Given the description of an element on the screen output the (x, y) to click on. 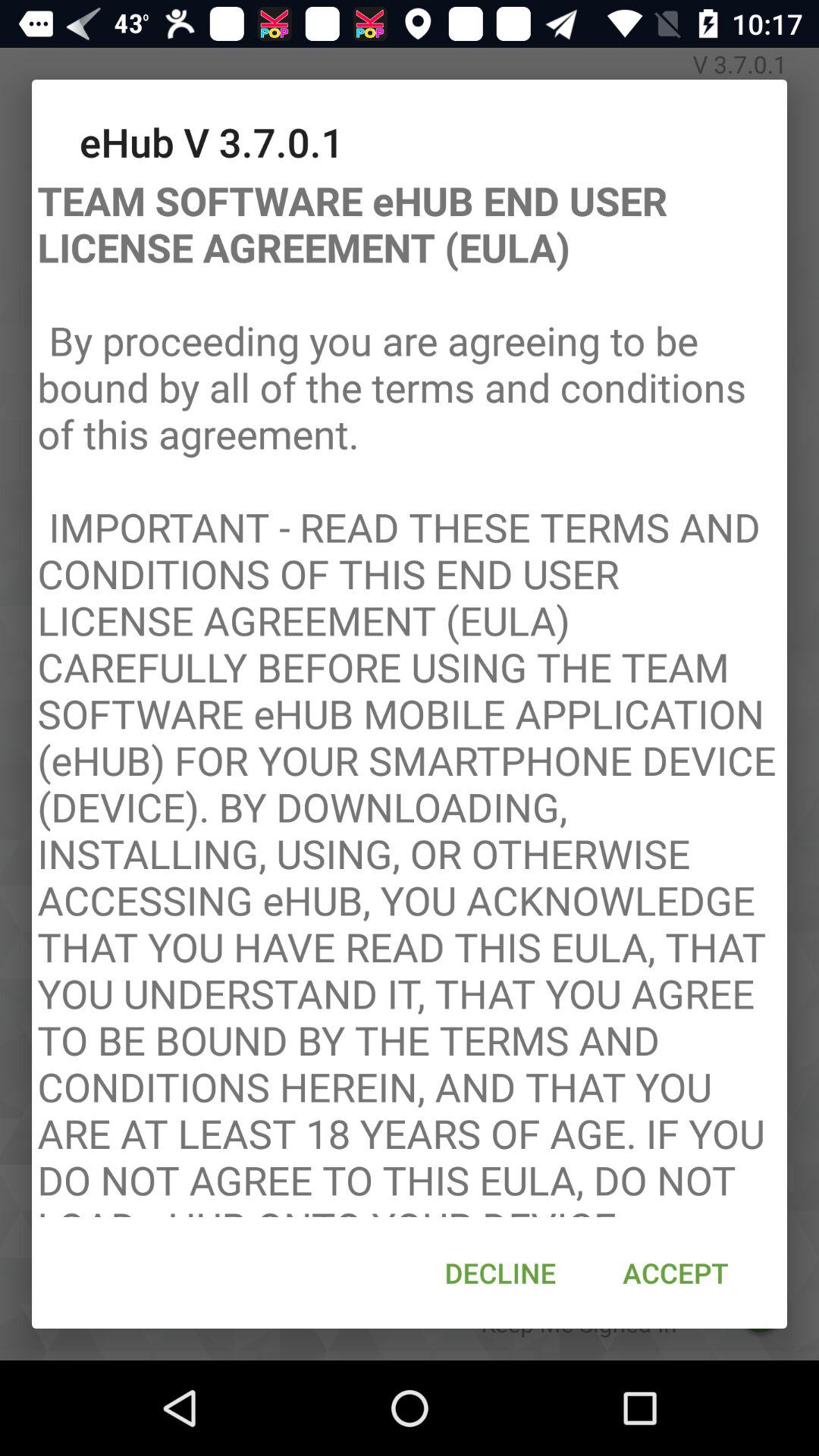
choose the decline at the bottom (500, 1272)
